Given the description of an element on the screen output the (x, y) to click on. 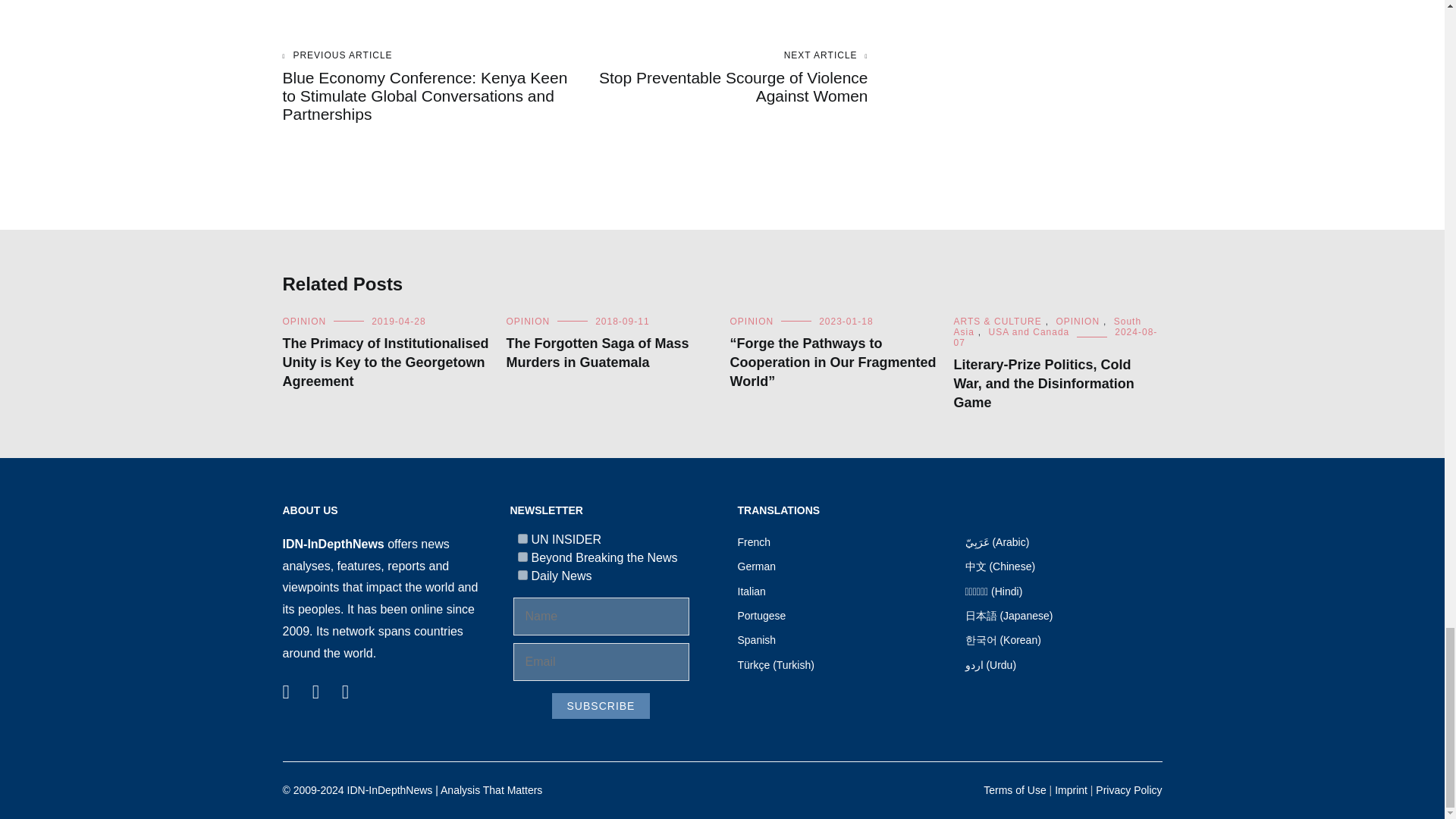
9 (521, 556)
7 (521, 538)
10 (521, 574)
